Given the description of an element on the screen output the (x, y) to click on. 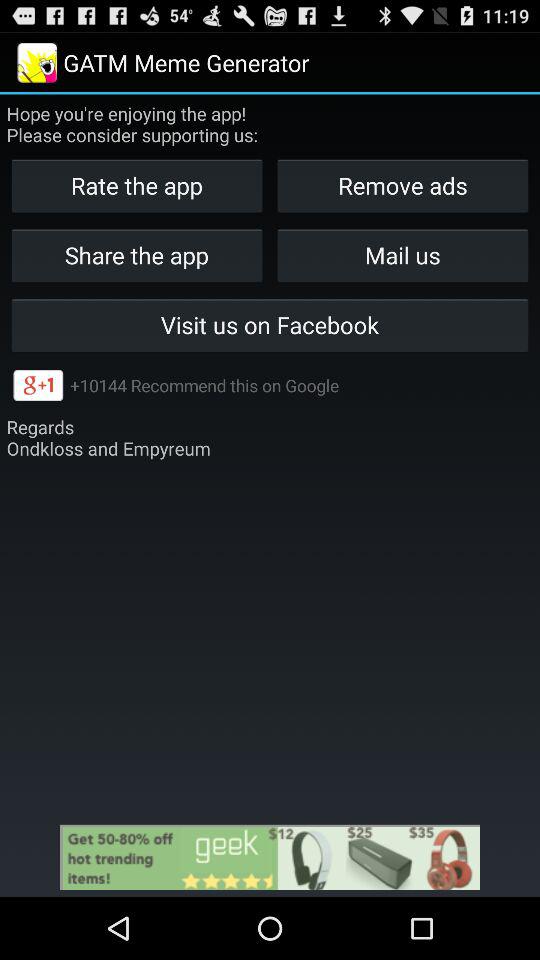
jump to visit us on (269, 324)
